Given the description of an element on the screen output the (x, y) to click on. 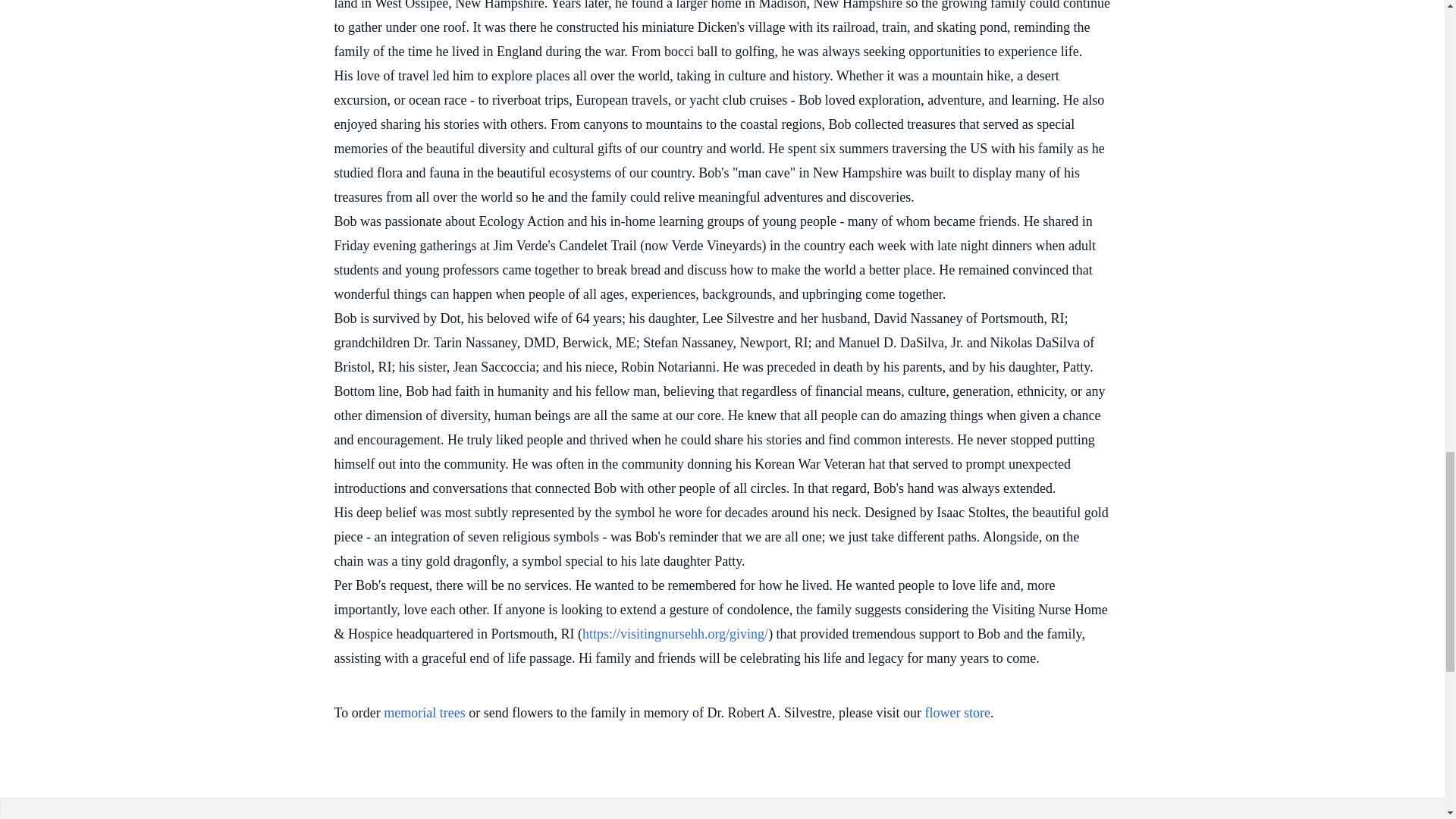
memorial trees (424, 712)
flower store (957, 712)
